Given the description of an element on the screen output the (x, y) to click on. 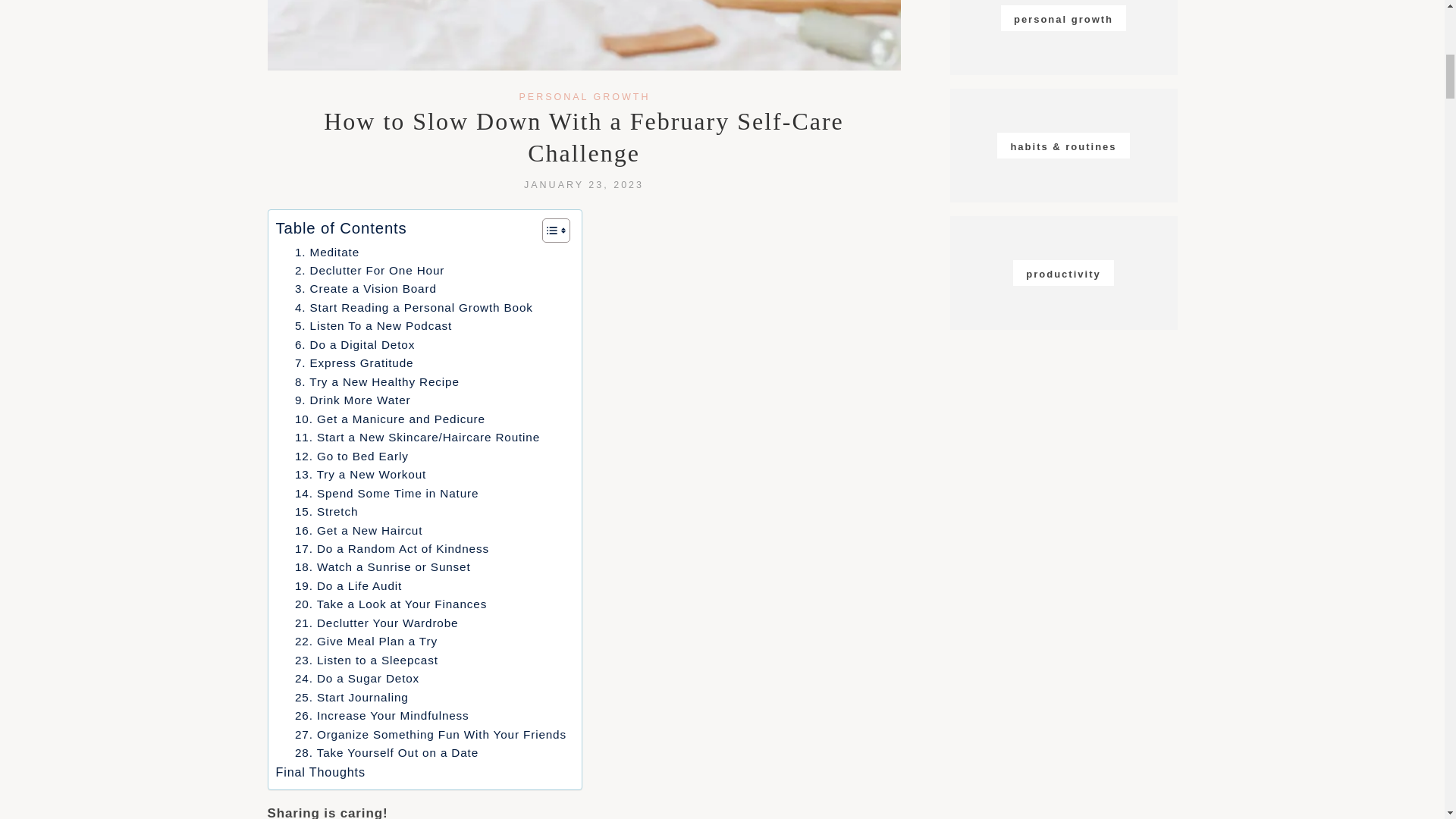
2. Declutter For One Hour (369, 270)
19. Do a Life Audit (348, 586)
10. Get a Manicure and Pedicure (389, 419)
8. Try a New Healthy Recipe (377, 382)
22. Give Meal Plan a Try (366, 641)
10. Get a Manicure and Pedicure (389, 419)
12. Go to Bed Early (352, 456)
15. Stretch (326, 511)
13. Try a New Workout (360, 475)
4. Start Reading a Personal Growth Book (413, 307)
